Given the description of an element on the screen output the (x, y) to click on. 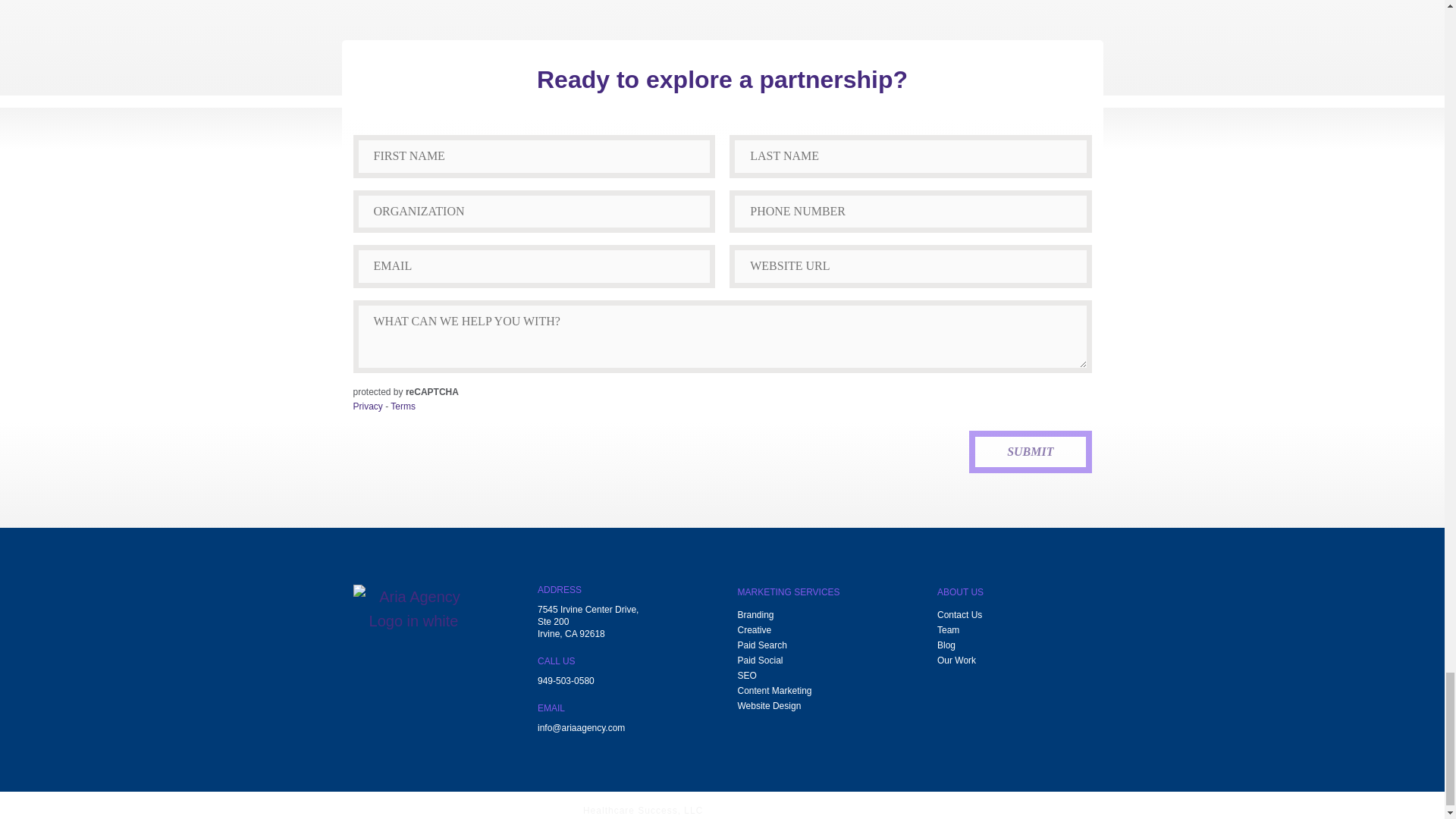
Branding (754, 614)
Paid Search (761, 645)
949-503-0580 (565, 681)
Paid Social (759, 660)
SEO (745, 675)
Submit (1029, 451)
Submit (1029, 451)
Creative (753, 630)
Terms (402, 406)
Content Marketing (773, 690)
Website Design (768, 705)
MARKETING SERVICES (788, 595)
ABOUT US (960, 595)
Contact Us (959, 614)
Privacy (367, 406)
